Given the description of an element on the screen output the (x, y) to click on. 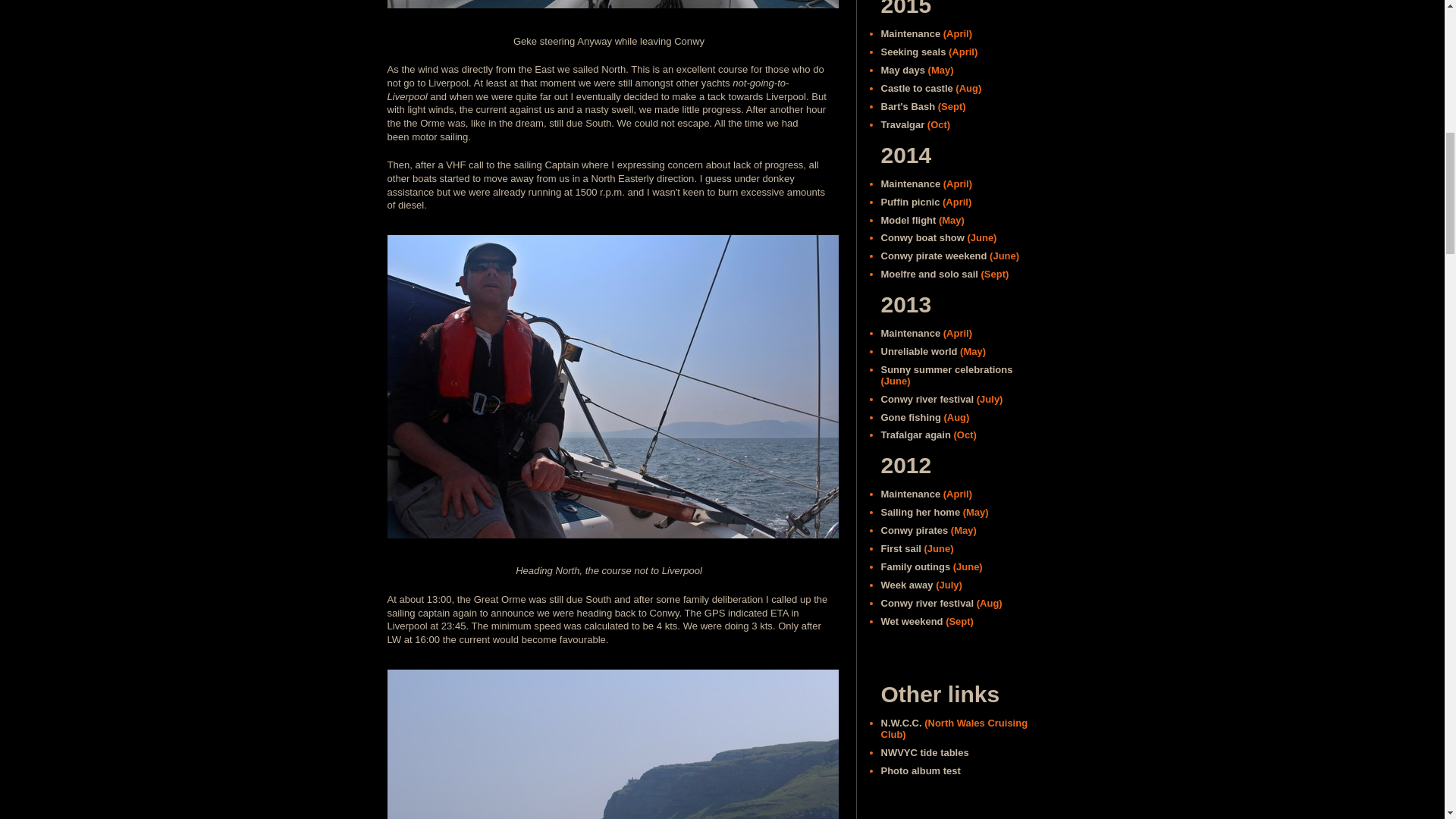
Puffin picnic (910, 202)
May days (902, 70)
Travalgar (902, 124)
Seeking seals (913, 51)
Castle to castle (916, 88)
Maintenance (910, 183)
Maintenance (910, 33)
Bart's Bash (908, 106)
